Given the description of an element on the screen output the (x, y) to click on. 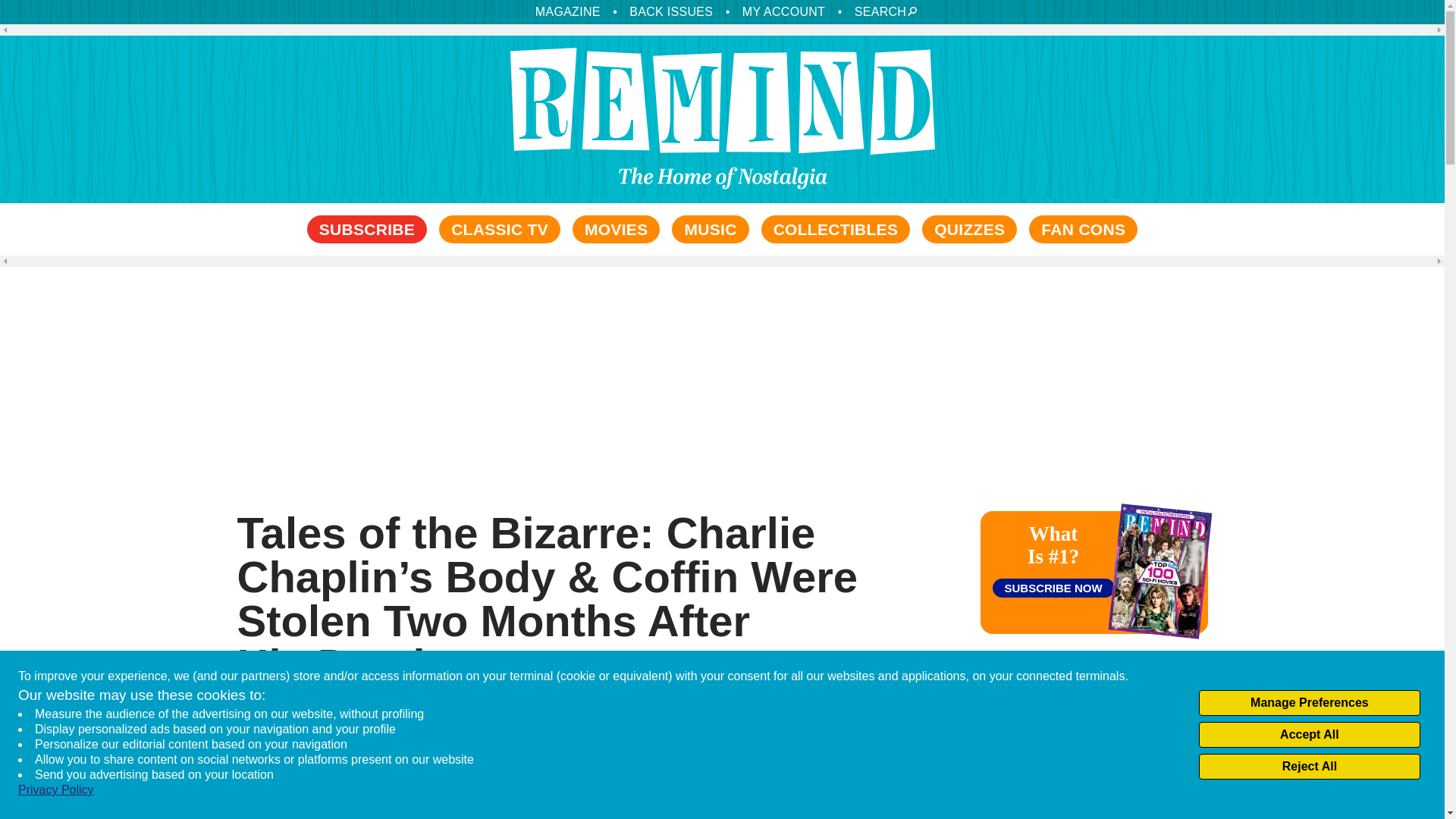
COLLECTIBLES (835, 229)
Accept All (1309, 734)
MOVIES (616, 229)
Comments (919, 724)
MAGAZINE (567, 11)
SUBSCRIBE (366, 229)
Reject All (1309, 766)
BACK ISSUES (670, 11)
Manage Preferences (1309, 702)
SEARCH (881, 11)
FAN CONS (1083, 229)
MY ACCOUNT (783, 11)
Lauren Novak (278, 717)
CLASSIC TV (499, 229)
QUIZZES (969, 229)
